Given the description of an element on the screen output the (x, y) to click on. 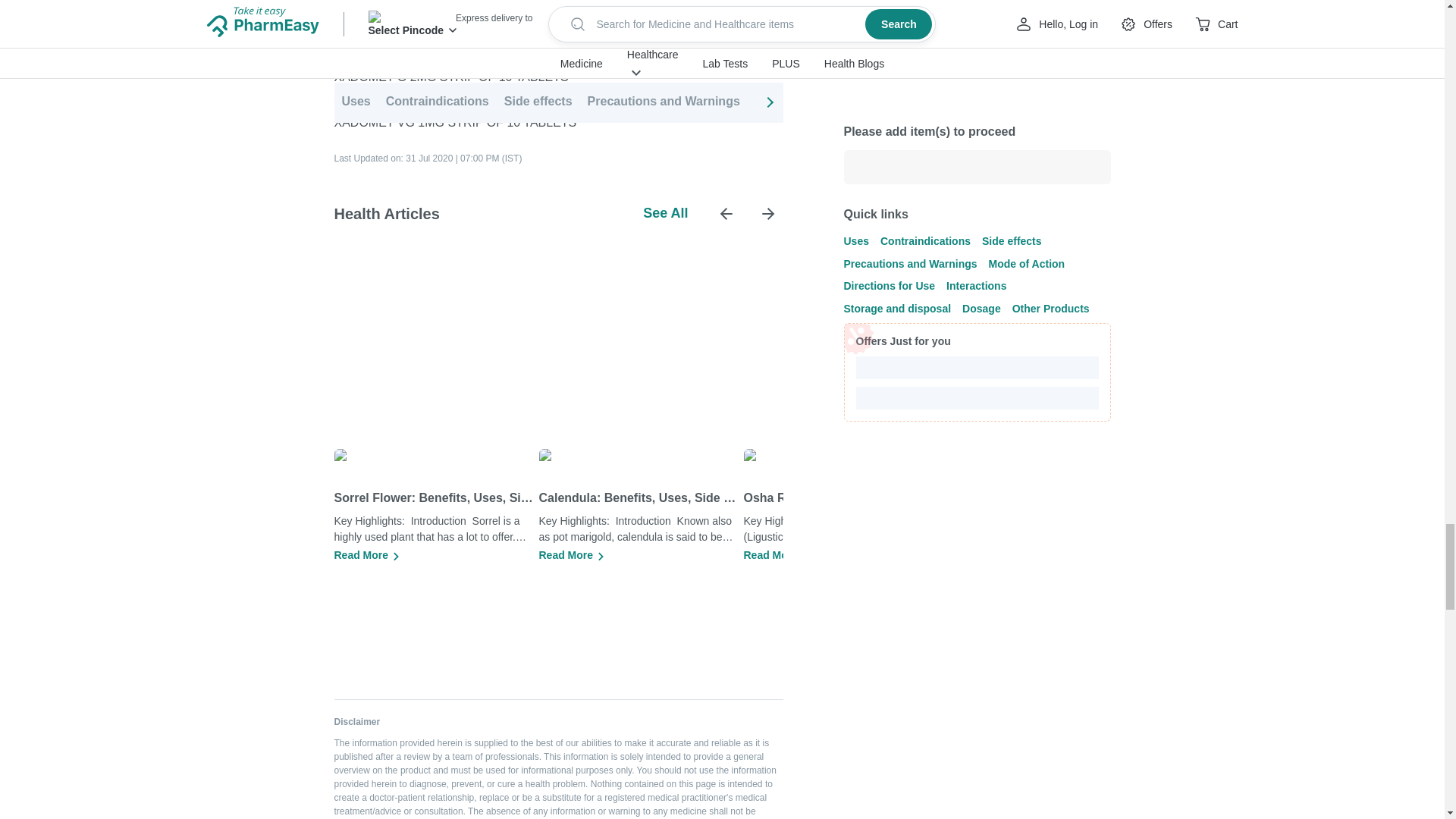
XADOMET G 2MG TABLET 15'S (422, 98)
XADOMET G 2MG STRIP OF 10 TABLETS (450, 75)
XADOMET G1 STRIP OF 10 TABLETS (438, 52)
XADOMET VG 1MG STRIP OF 10 TABLETS (454, 121)
See All (665, 212)
